Given the description of an element on the screen output the (x, y) to click on. 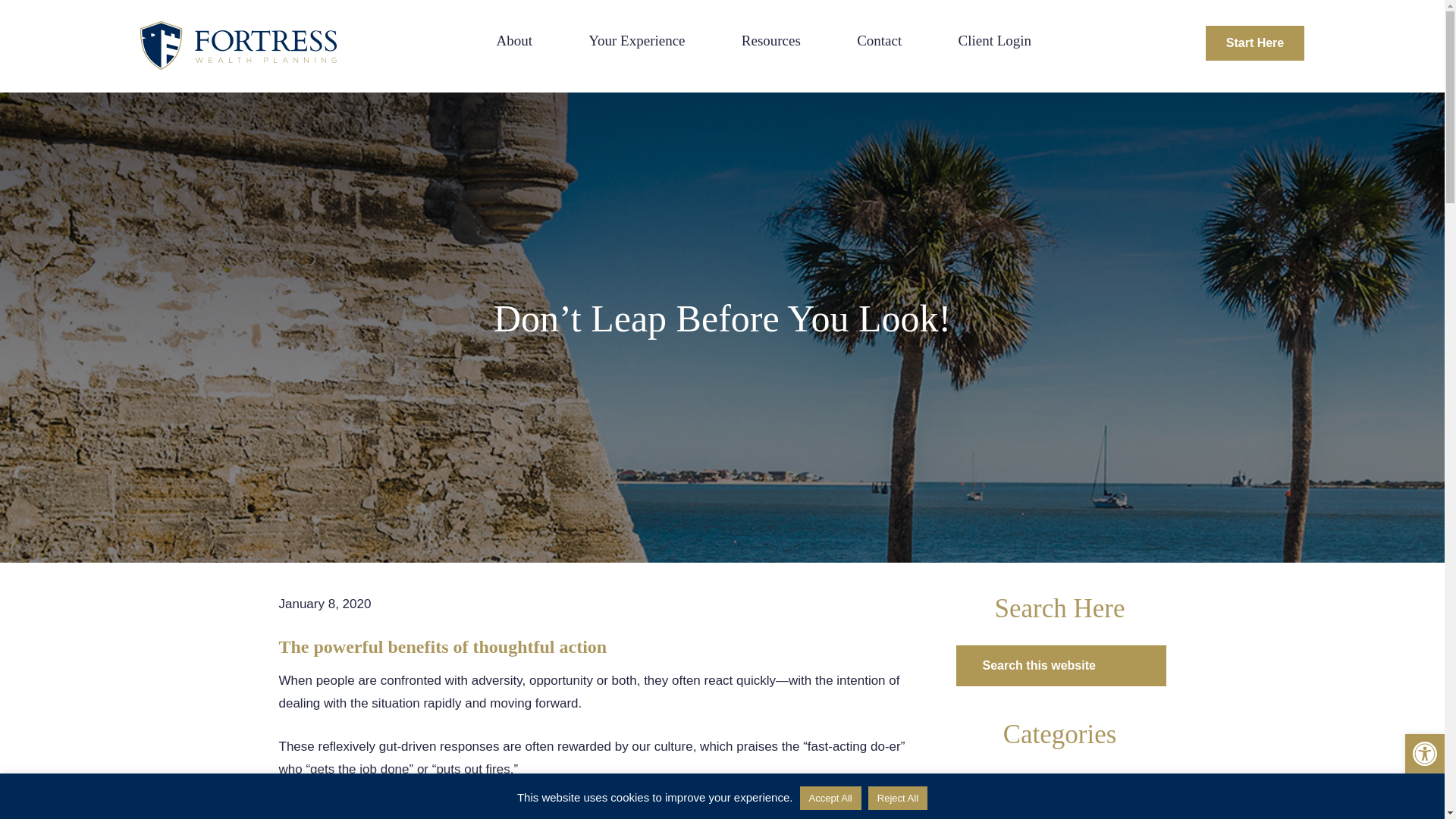
Your Experience (636, 46)
Accessibility Tools (1424, 753)
Contact (879, 46)
Fortress Wealth Planning (240, 46)
Divorcees Financial Planning (1059, 803)
Start Here (1254, 42)
Resources (770, 46)
